Given the description of an element on the screen output the (x, y) to click on. 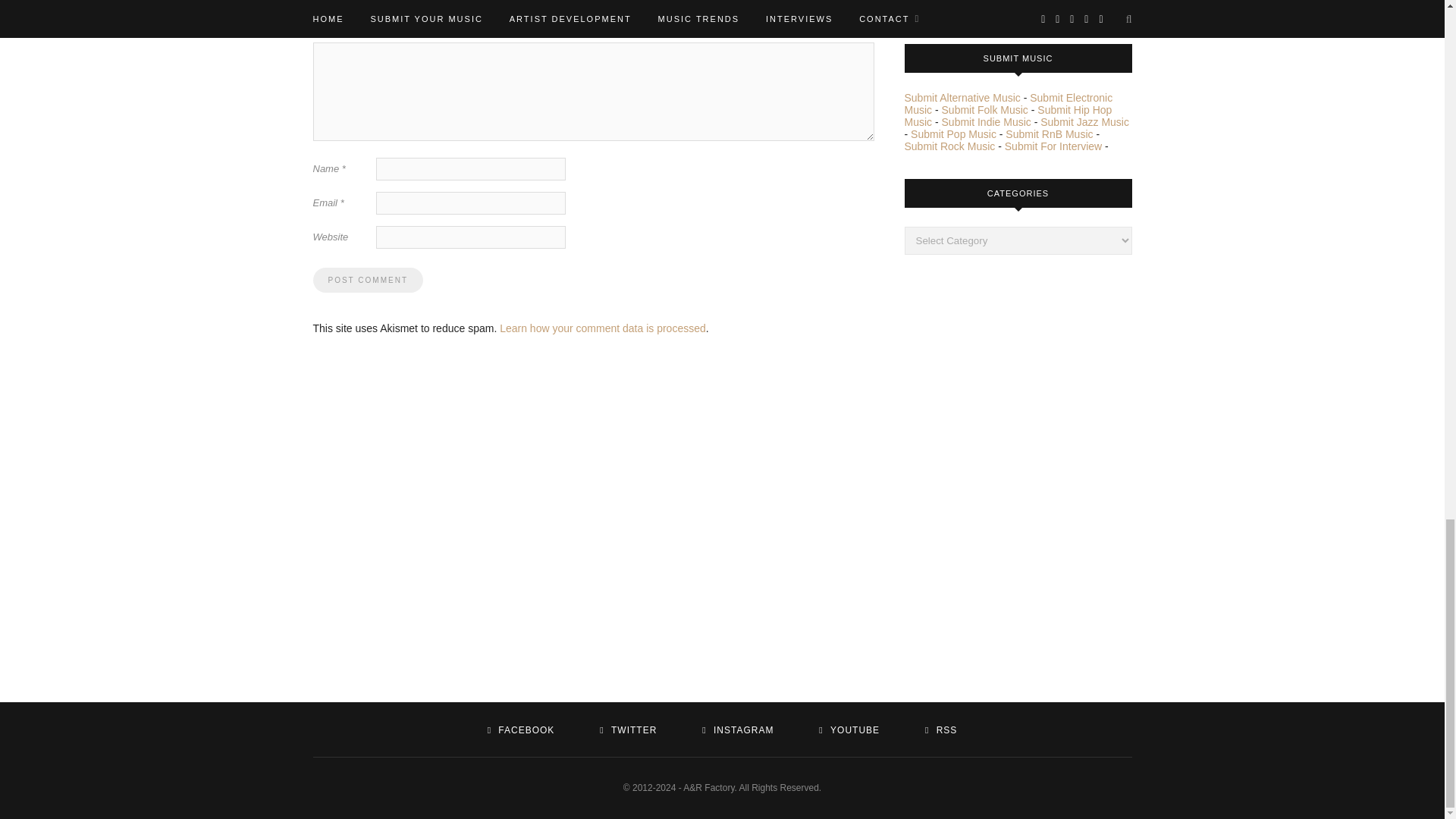
Post Comment (367, 279)
Post Comment (367, 279)
Learn how your comment data is processed (602, 328)
